Given the description of an element on the screen output the (x, y) to click on. 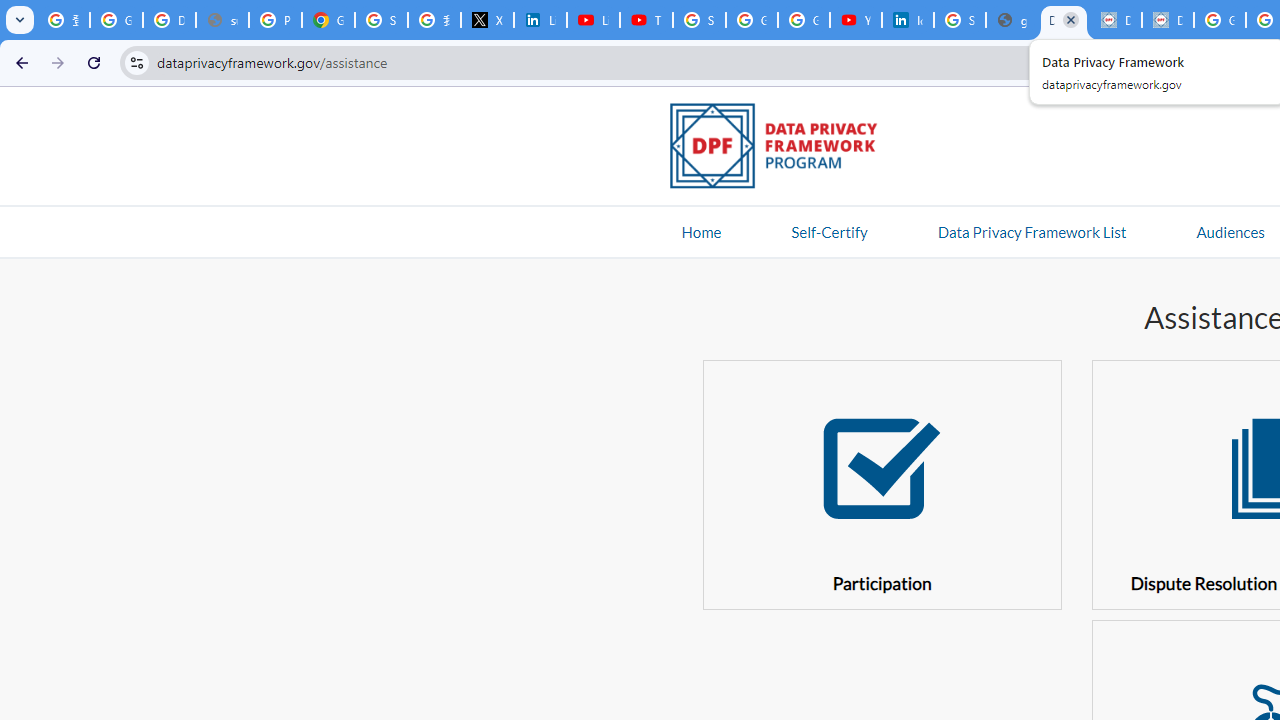
Privacy Help Center - Policies Help (275, 20)
LinkedIn - YouTube (593, 20)
Sign in - Google Accounts (699, 20)
support.google.com - Network error (222, 20)
Data Privacy Framework List (1031, 231)
Audiences (1230, 231)
Sign in - Google Accounts (959, 20)
